Given the description of an element on the screen output the (x, y) to click on. 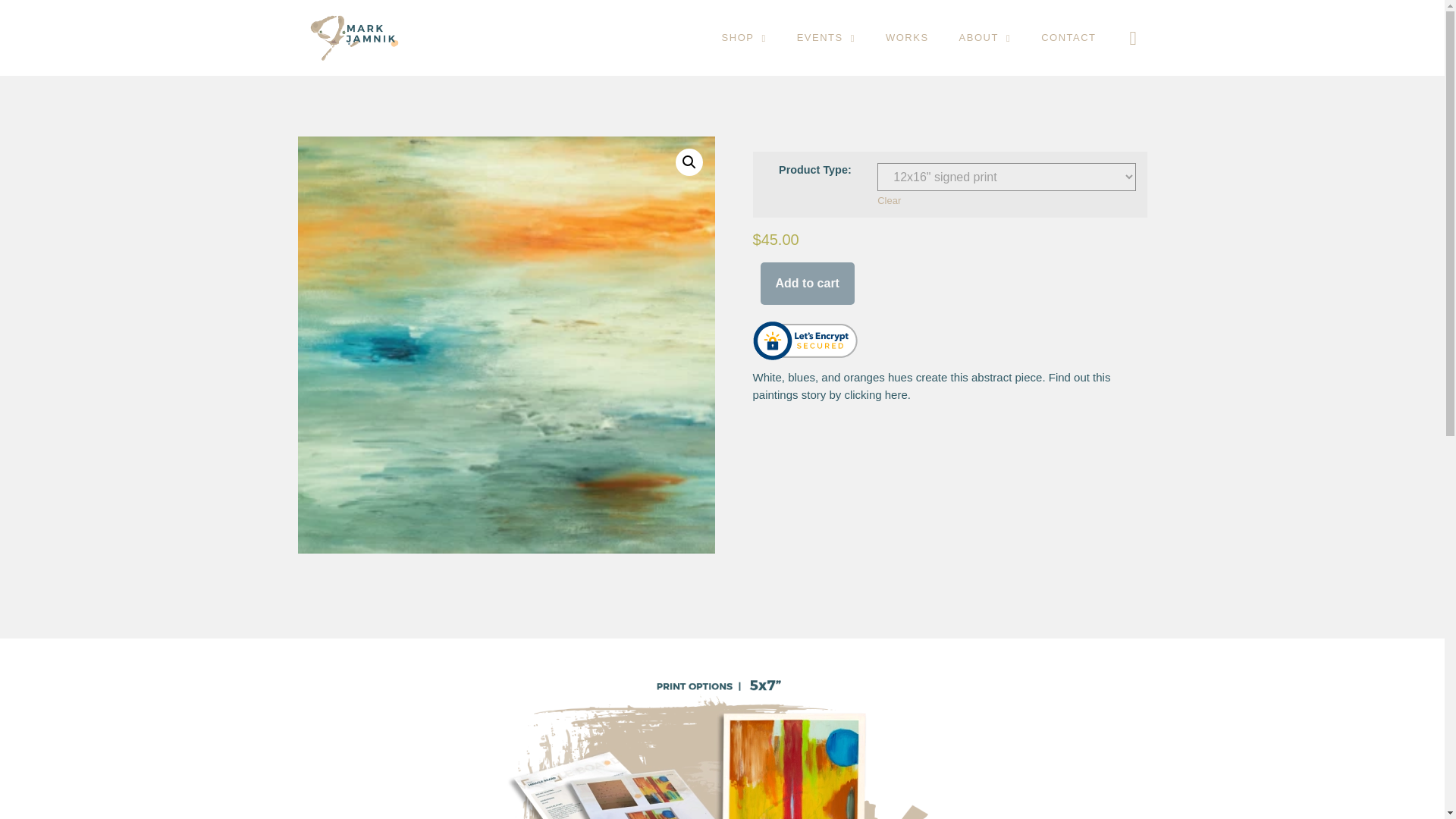
CONTACT (1068, 38)
SHOP (743, 38)
WORKS (906, 38)
EVENTS (825, 38)
ABOUT (984, 38)
